Given the description of an element on the screen output the (x, y) to click on. 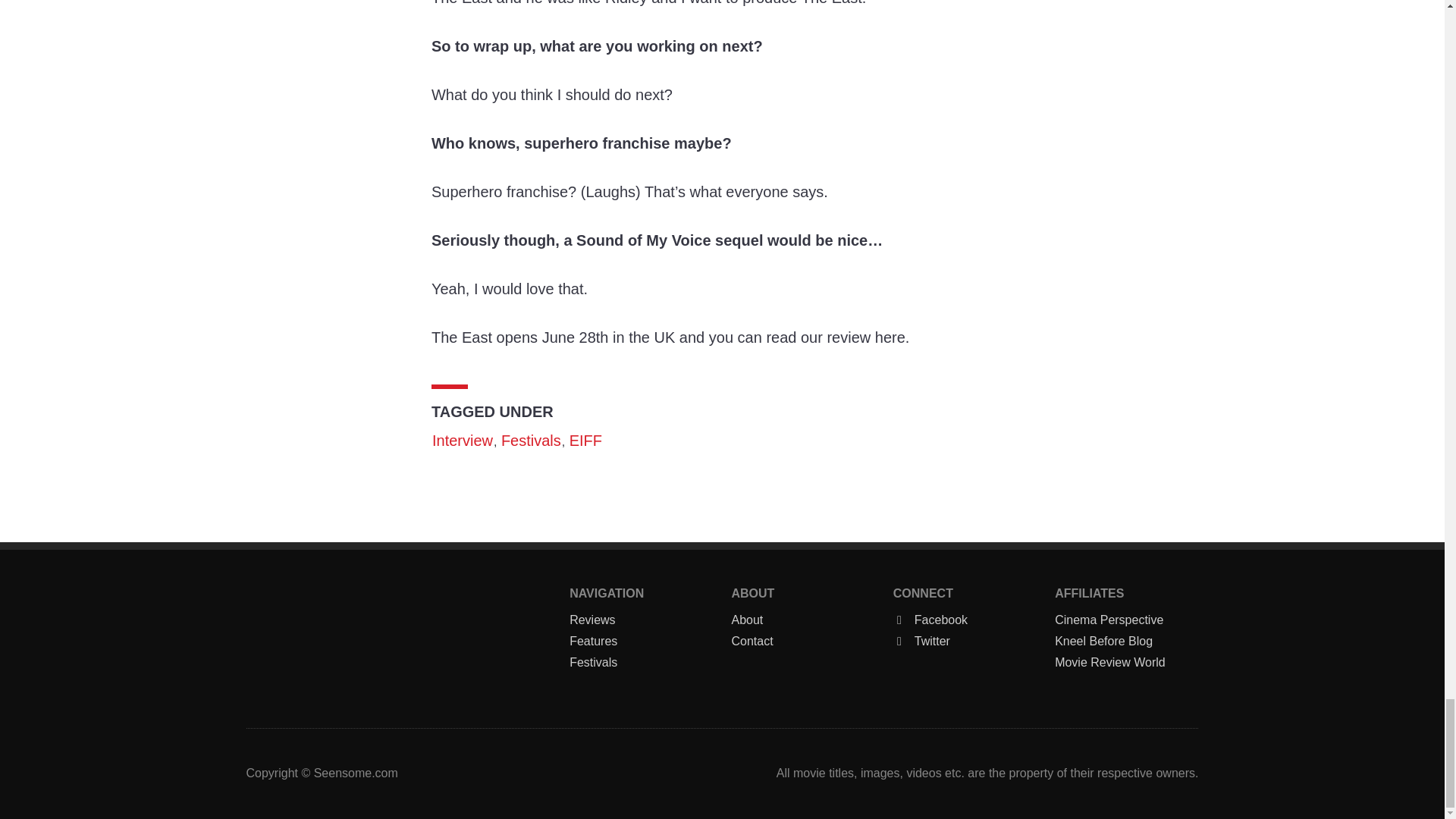
Interview (461, 440)
Festivals (641, 662)
Twitter (964, 640)
Facebook (964, 619)
Cinema Perspective (1126, 619)
Kneel Before Blog (1126, 640)
Reviews (641, 619)
Movie Review World (1126, 662)
About (802, 619)
Festivals (531, 440)
